Given the description of an element on the screen output the (x, y) to click on. 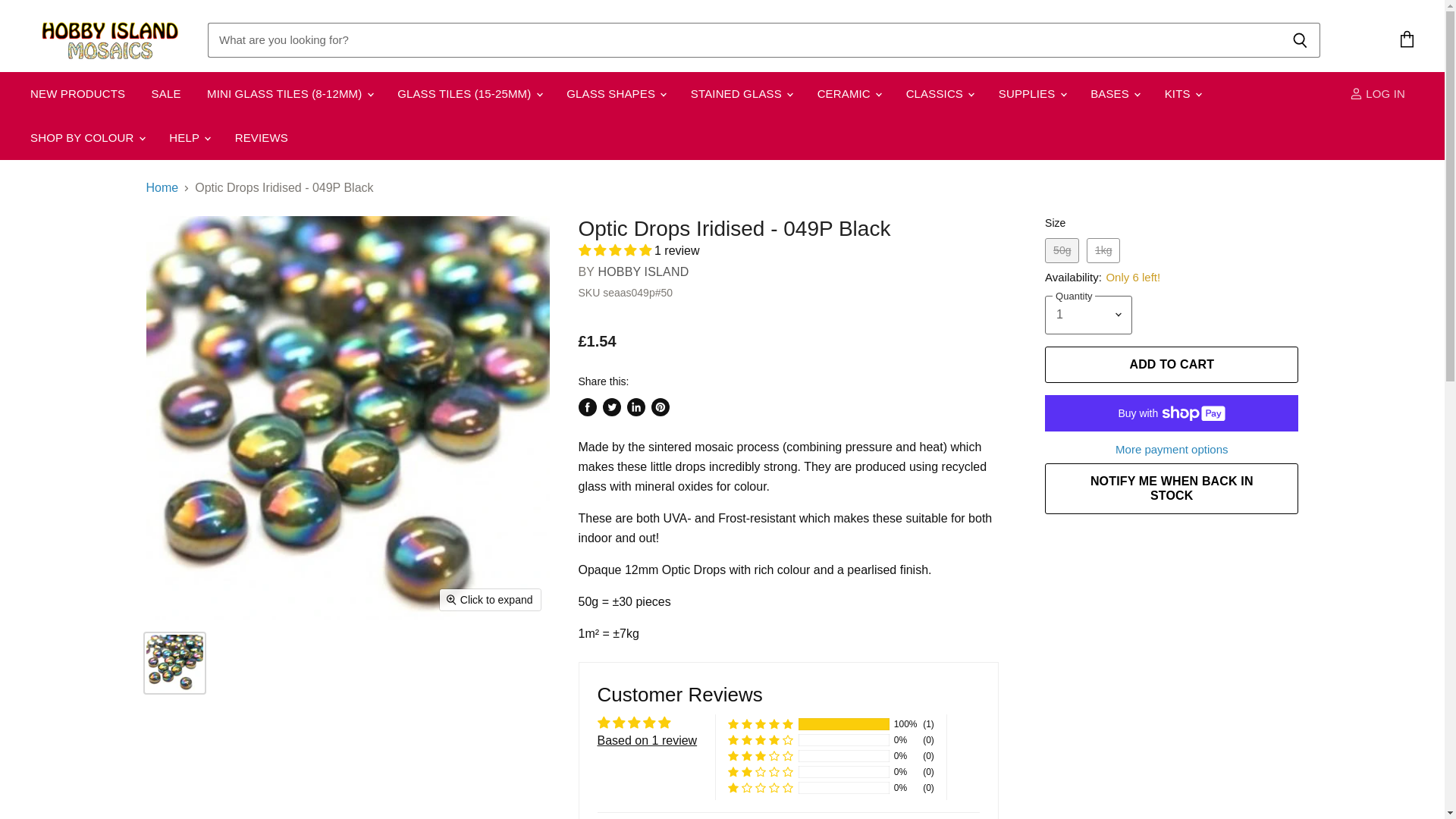
NEW PRODUCTS (77, 93)
SALE (165, 93)
Hobby Island (642, 271)
ACCOUNT ICON (1355, 92)
